Given the description of an element on the screen output the (x, y) to click on. 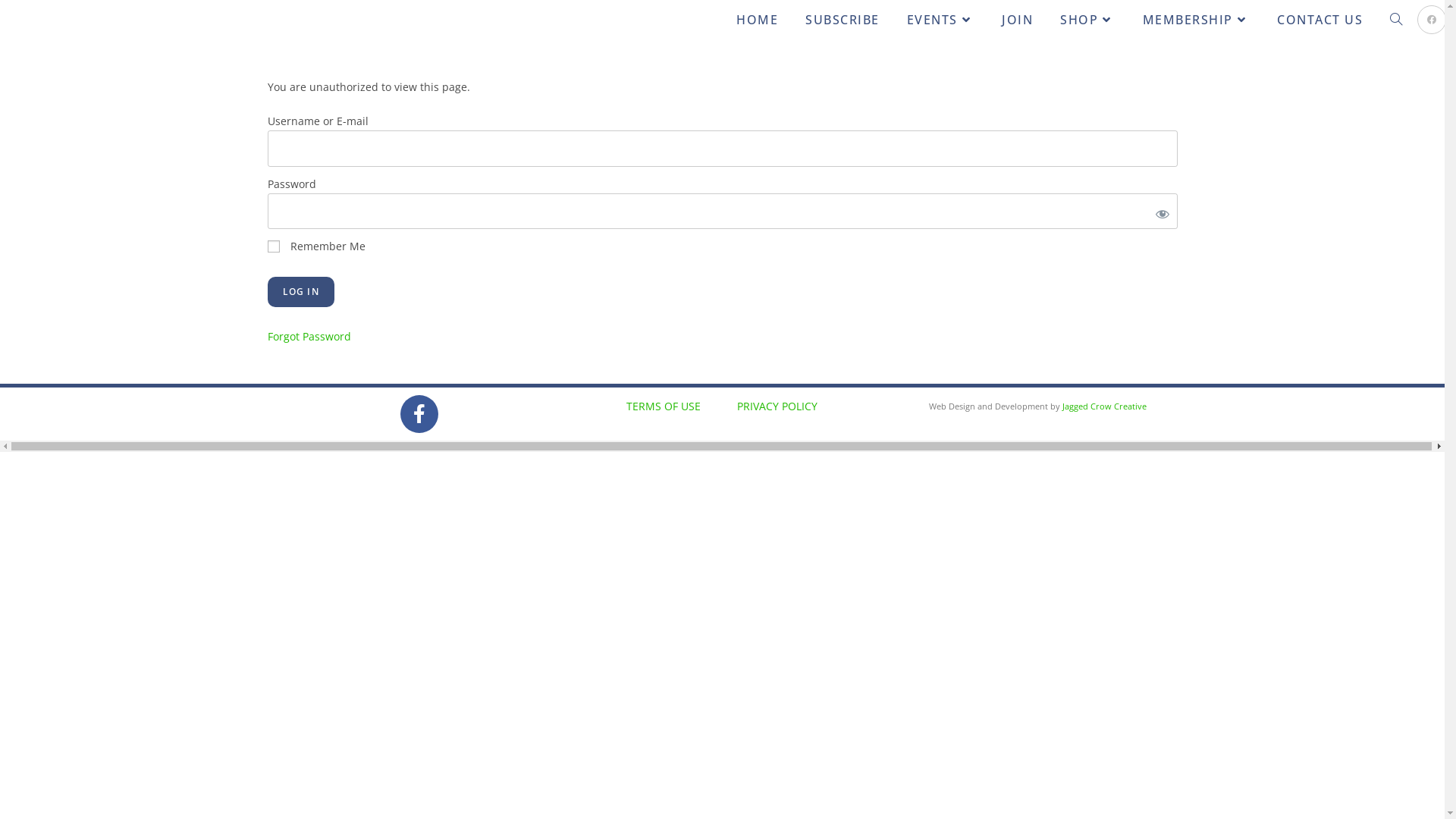
Forgot Password Element type: text (308, 336)
Jagged Crow Creative Element type: text (1104, 405)
TERMS OF USE Element type: text (663, 405)
PRIVACY POLICY Element type: text (777, 405)
Log In Element type: text (299, 291)
EVENTS Element type: text (940, 19)
SHOP Element type: text (1087, 19)
SUBSCRIBE Element type: text (842, 19)
JOIN Element type: text (1017, 19)
CONTACT US Element type: text (1319, 19)
MEMBERSHIP Element type: text (1195, 19)
HOME Element type: text (756, 19)
